Given the description of an element on the screen output the (x, y) to click on. 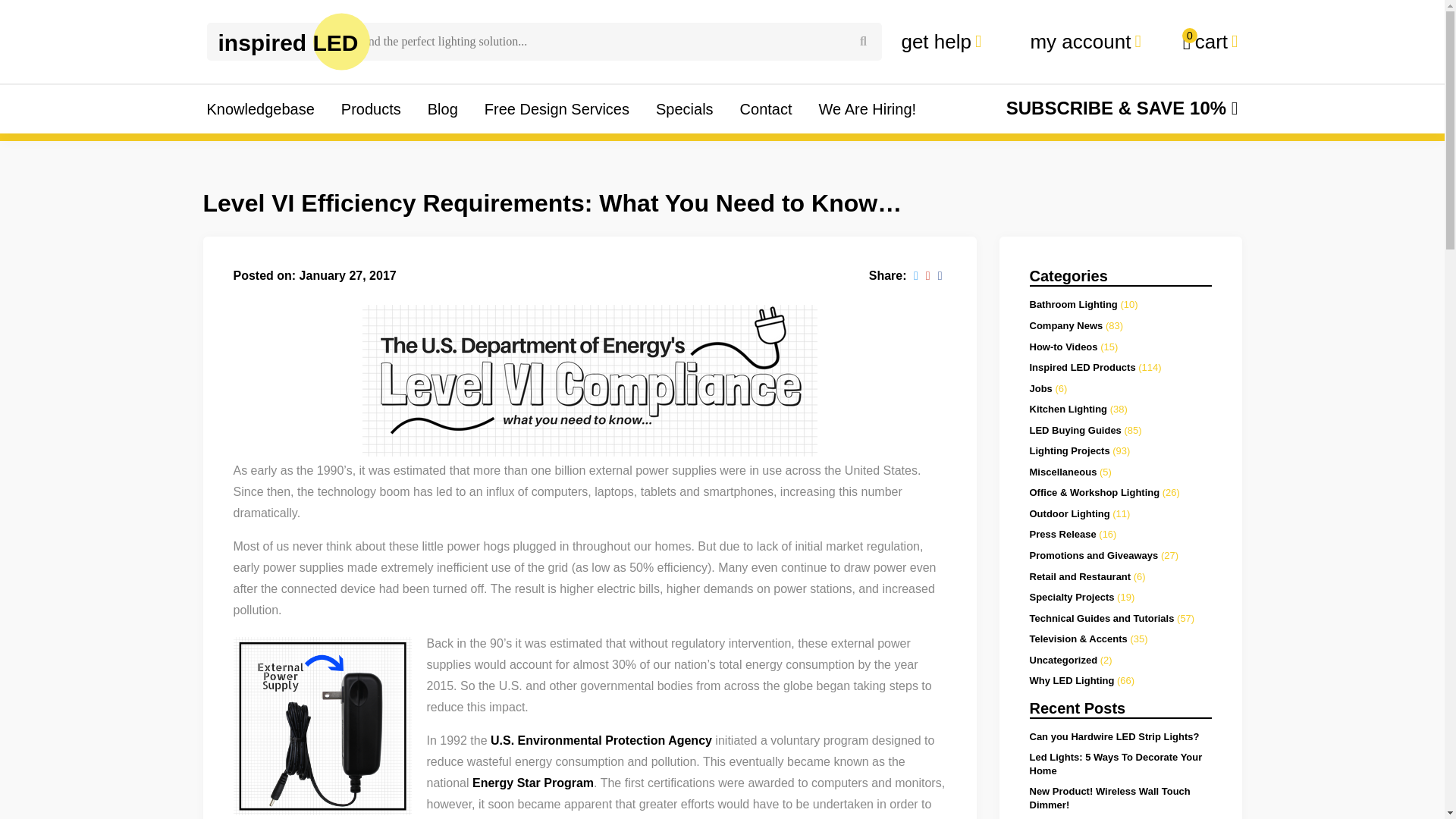
Energy Star Program (532, 782)
inspired LED (287, 41)
get help (946, 41)
U.S. Environmental Protection Agency (600, 739)
Search (863, 41)
Free Design Services (557, 109)
Contact (765, 109)
Specials (683, 109)
Blog (442, 109)
my account (1084, 41)
Products (371, 109)
We Are Hiring! (1209, 41)
Knowledgebase (867, 109)
